Given the description of an element on the screen output the (x, y) to click on. 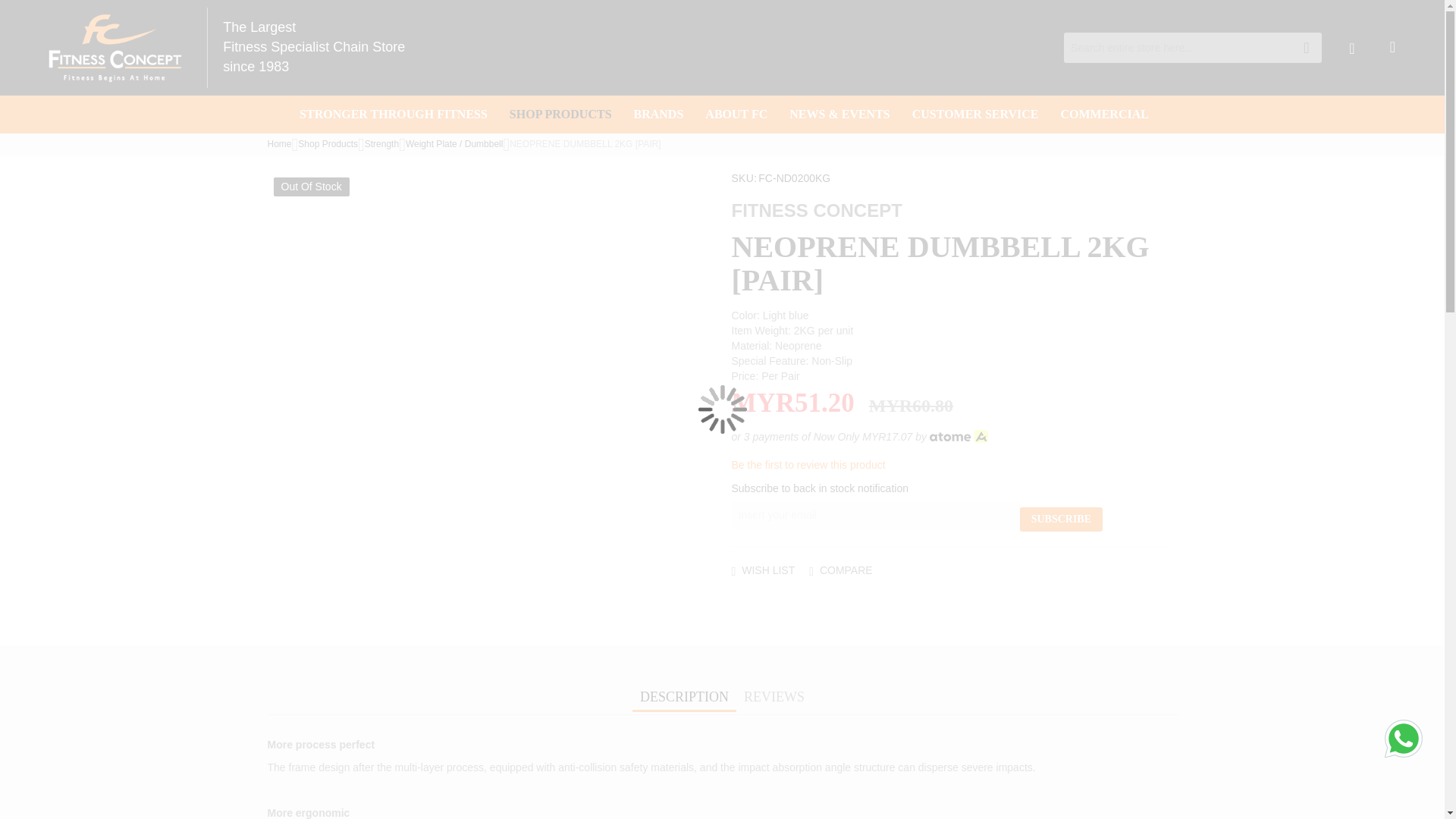
Shop Products (328, 143)
Search (1306, 47)
STRONGER THROUGH FITNESS (391, 114)
SHOP PRODUCTS (558, 114)
 Strength (381, 143)
Go to Home Page (278, 143)
